Given the description of an element on the screen output the (x, y) to click on. 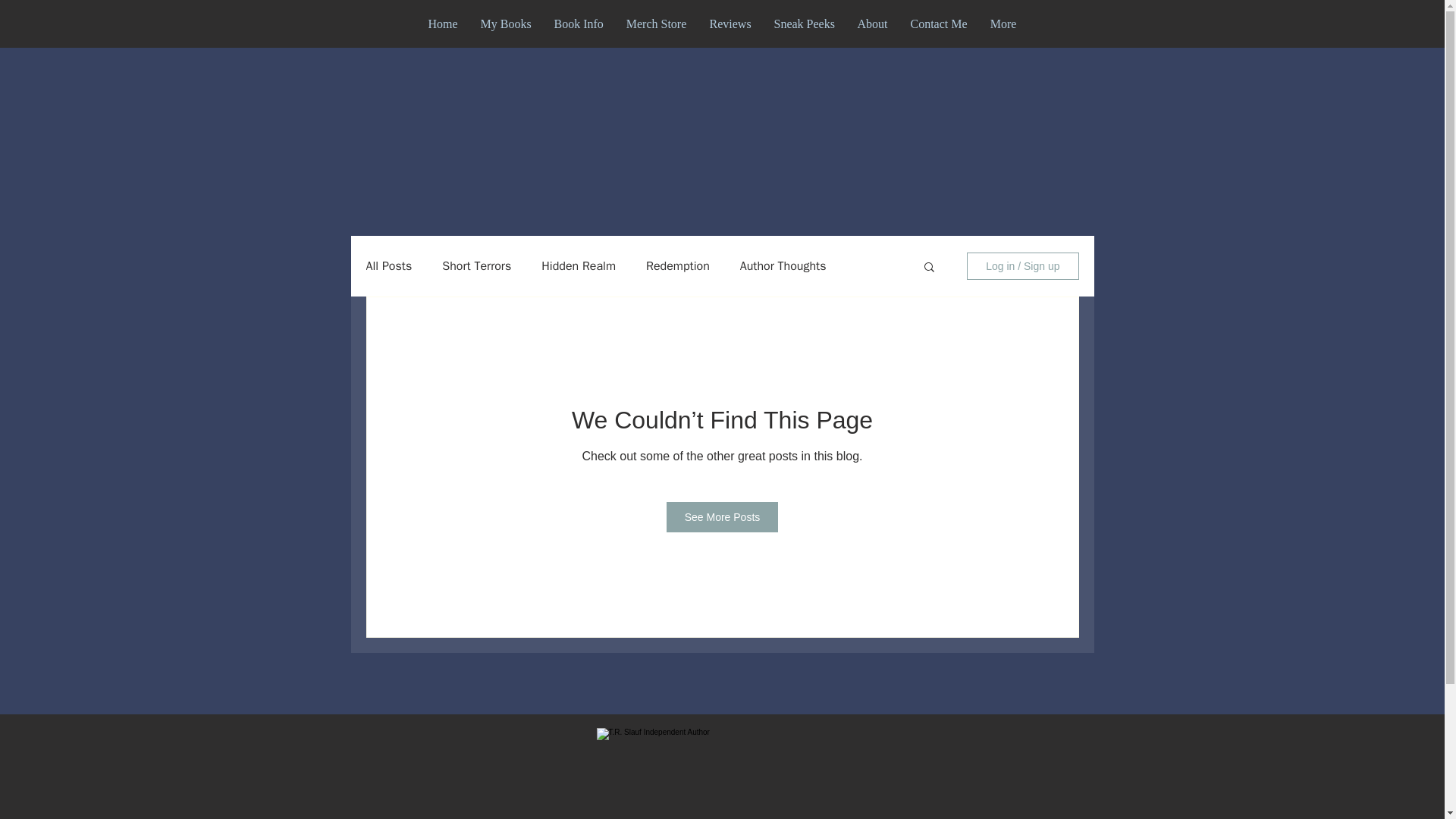
Short Terrors (476, 265)
Book Info (578, 24)
Redemption (678, 265)
Hidden Realm (578, 265)
Home (442, 24)
My Books (504, 24)
All Posts (388, 265)
Sneak Peeks (803, 24)
About (872, 24)
Contact Me (938, 24)
